Given the description of an element on the screen output the (x, y) to click on. 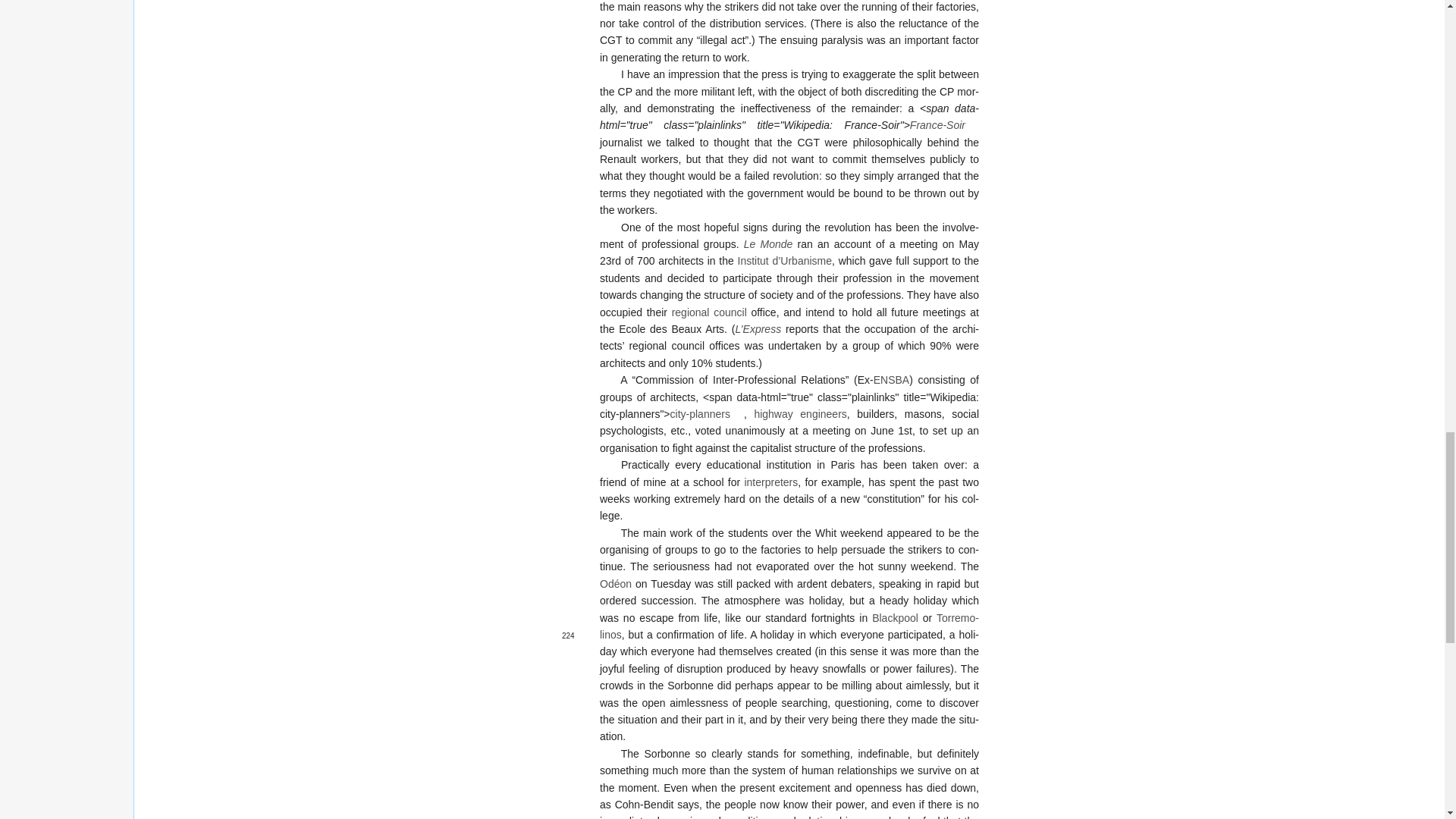
France-Soir (944, 124)
Le Monde (768, 244)
